Given the description of an element on the screen output the (x, y) to click on. 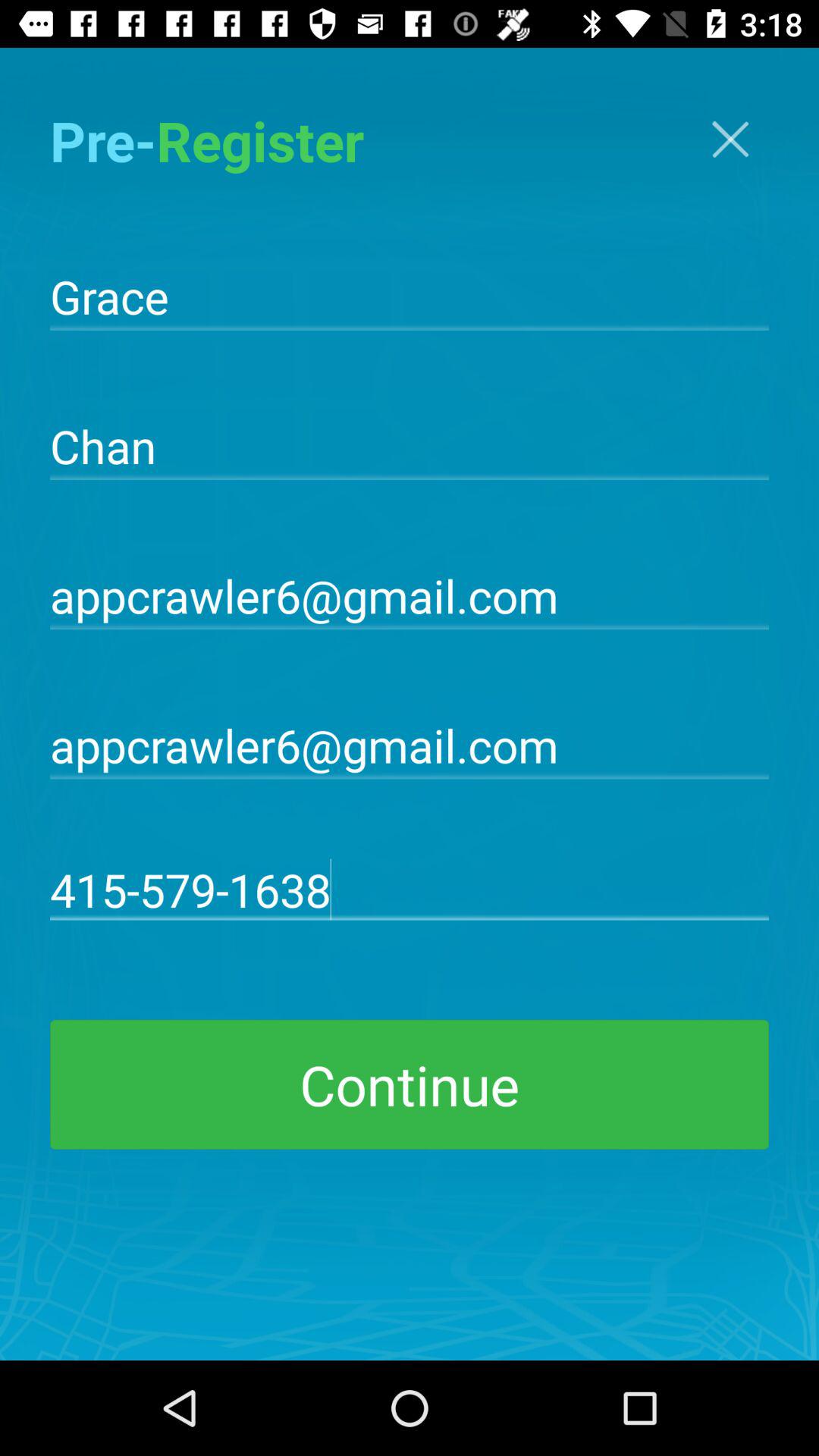
go back (730, 139)
